Given the description of an element on the screen output the (x, y) to click on. 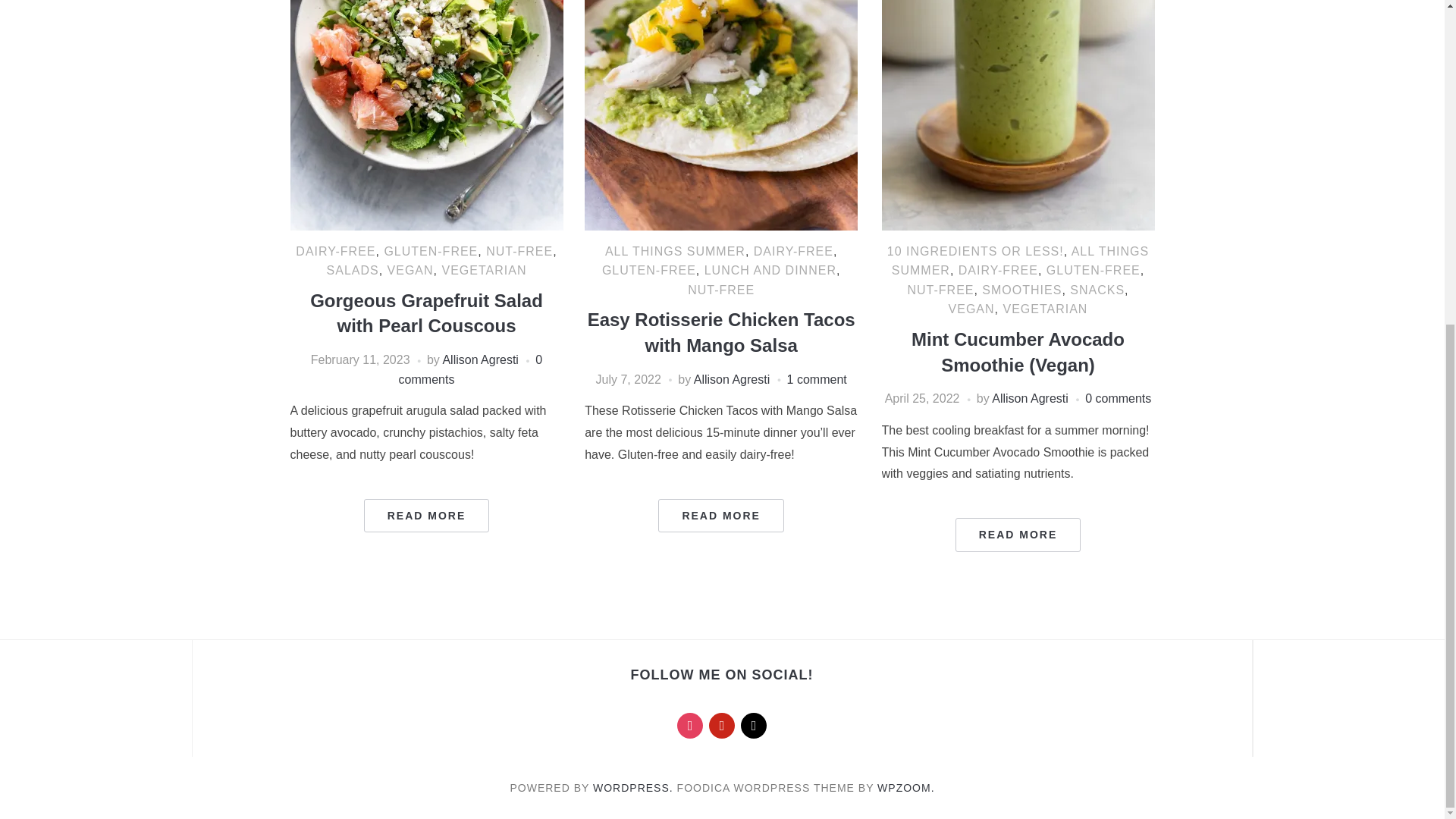
Easy Rotisserie Chicken Tacos with Mango Salsa (721, 24)
Instagram (690, 724)
Posts by Allison Agresti (480, 359)
Permalink to Gorgeous Grapefruit Salad with Pearl Couscous (426, 515)
Posts by Allison Agresti (732, 379)
Default Label (722, 724)
Gorgeous Grapefruit Salad with Pearl Couscous (425, 24)
Posts by Allison Agresti (1029, 398)
Default Label (754, 724)
Permalink to Easy Rotisserie Chicken Tacos with Mango Salsa (721, 515)
